Given the description of an element on the screen output the (x, y) to click on. 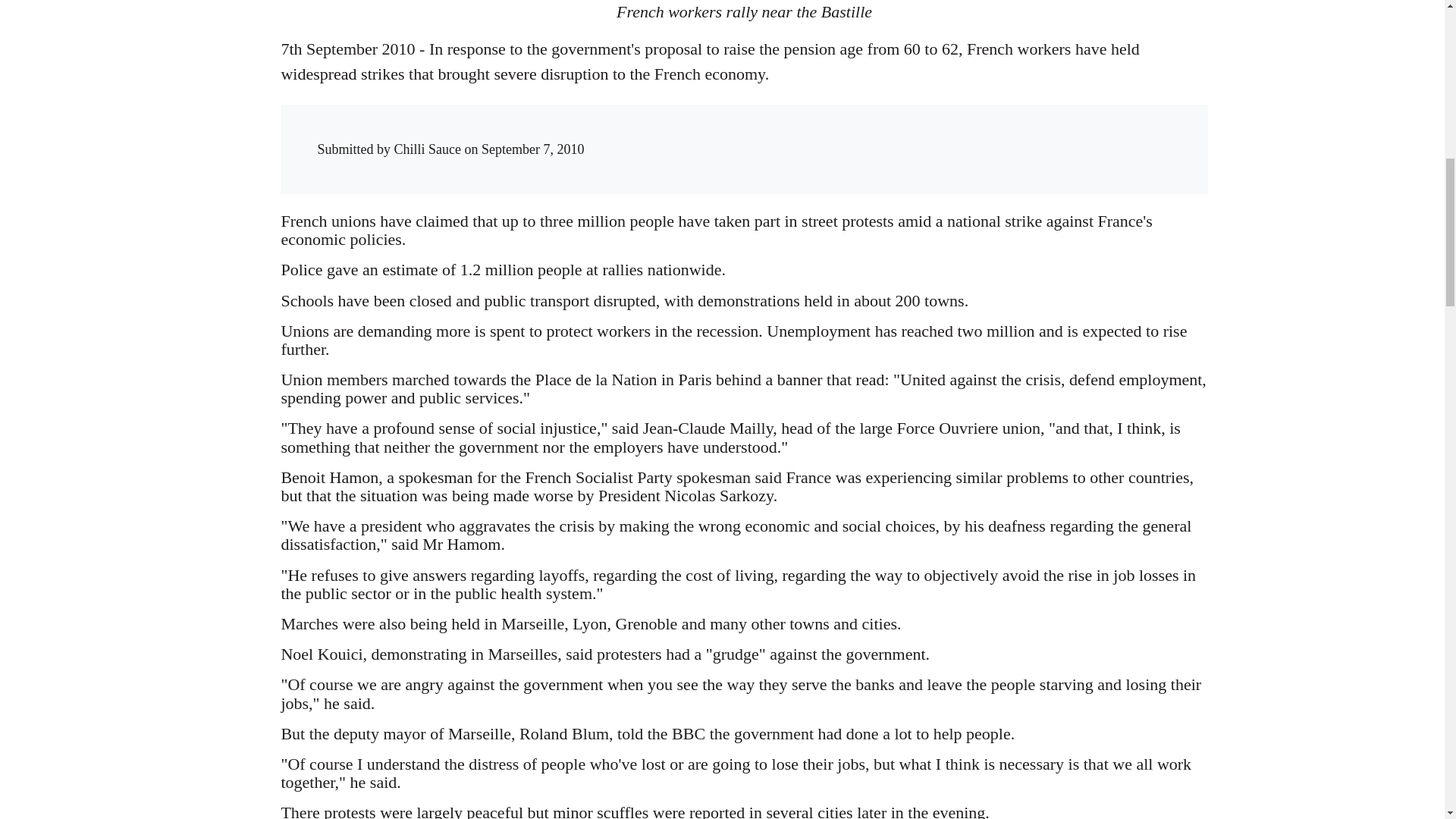
Share to Reddit (977, 134)
Share to Facebook (916, 134)
Share to Twitter (946, 134)
